Given the description of an element on the screen output the (x, y) to click on. 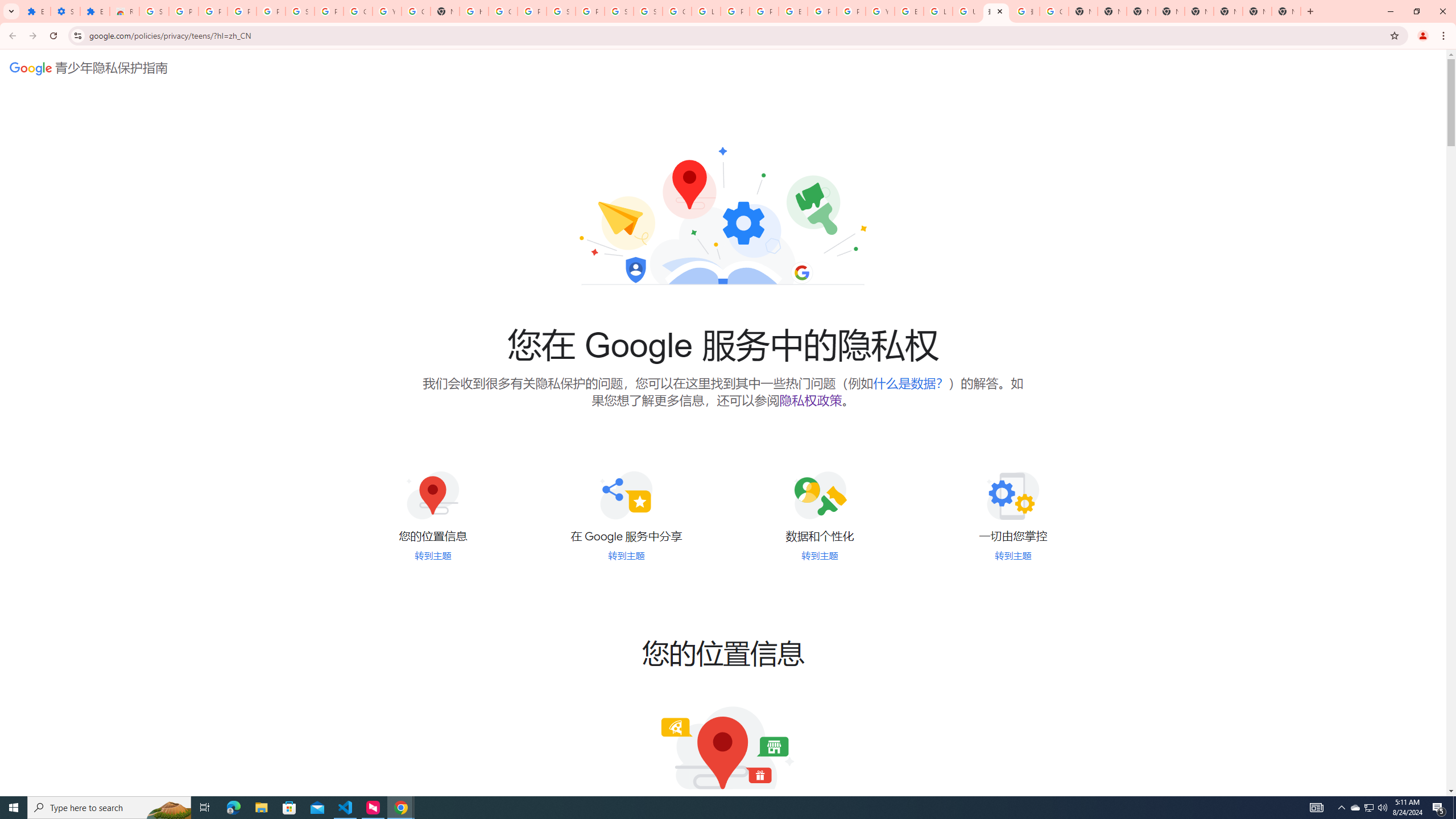
Sign in - Google Accounts (648, 11)
Google Images (1054, 11)
